Given the description of an element on the screen output the (x, y) to click on. 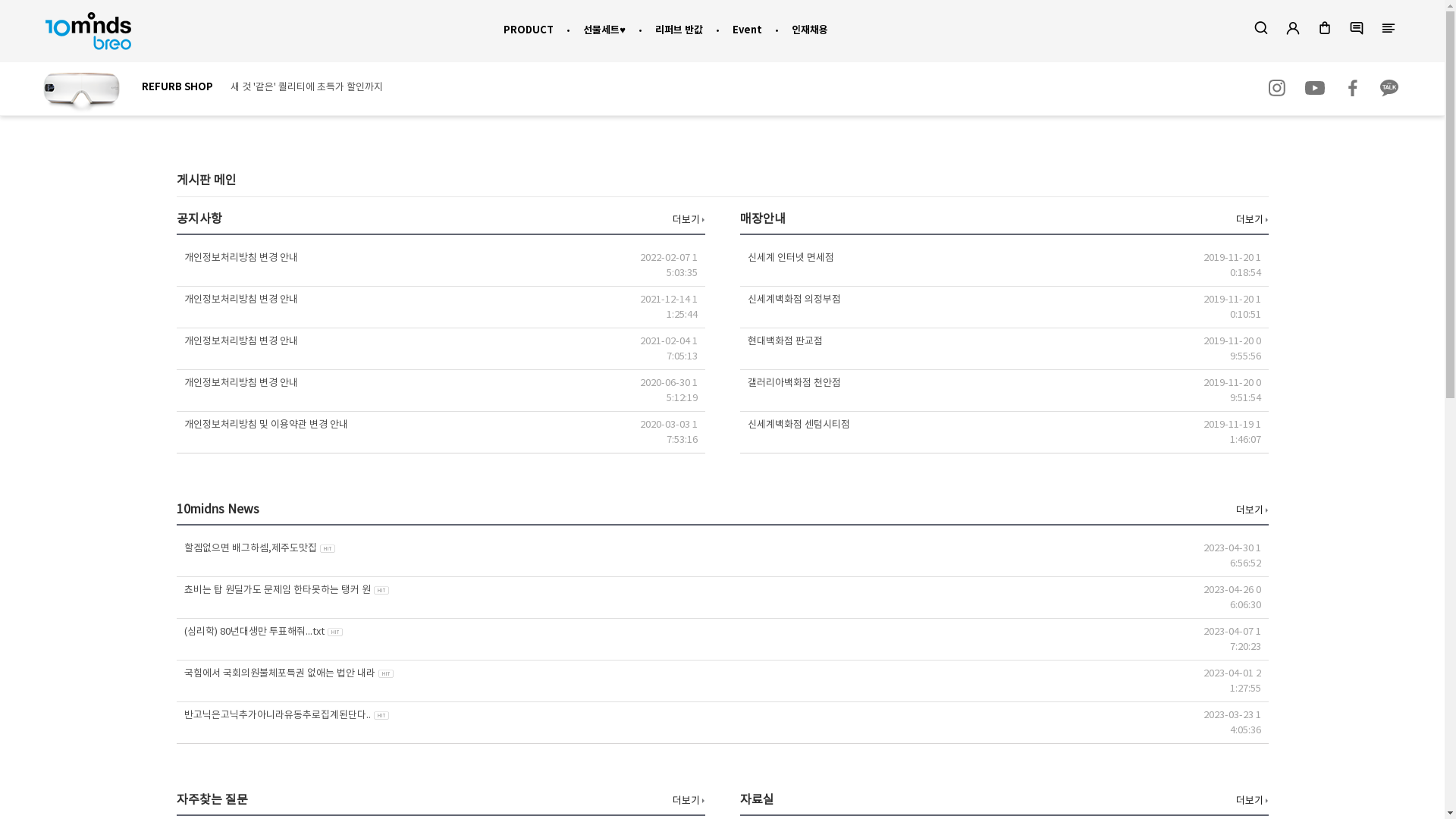
Event Element type: text (746, 30)
PRODUCT Element type: text (528, 30)
